Given the description of an element on the screen output the (x, y) to click on. 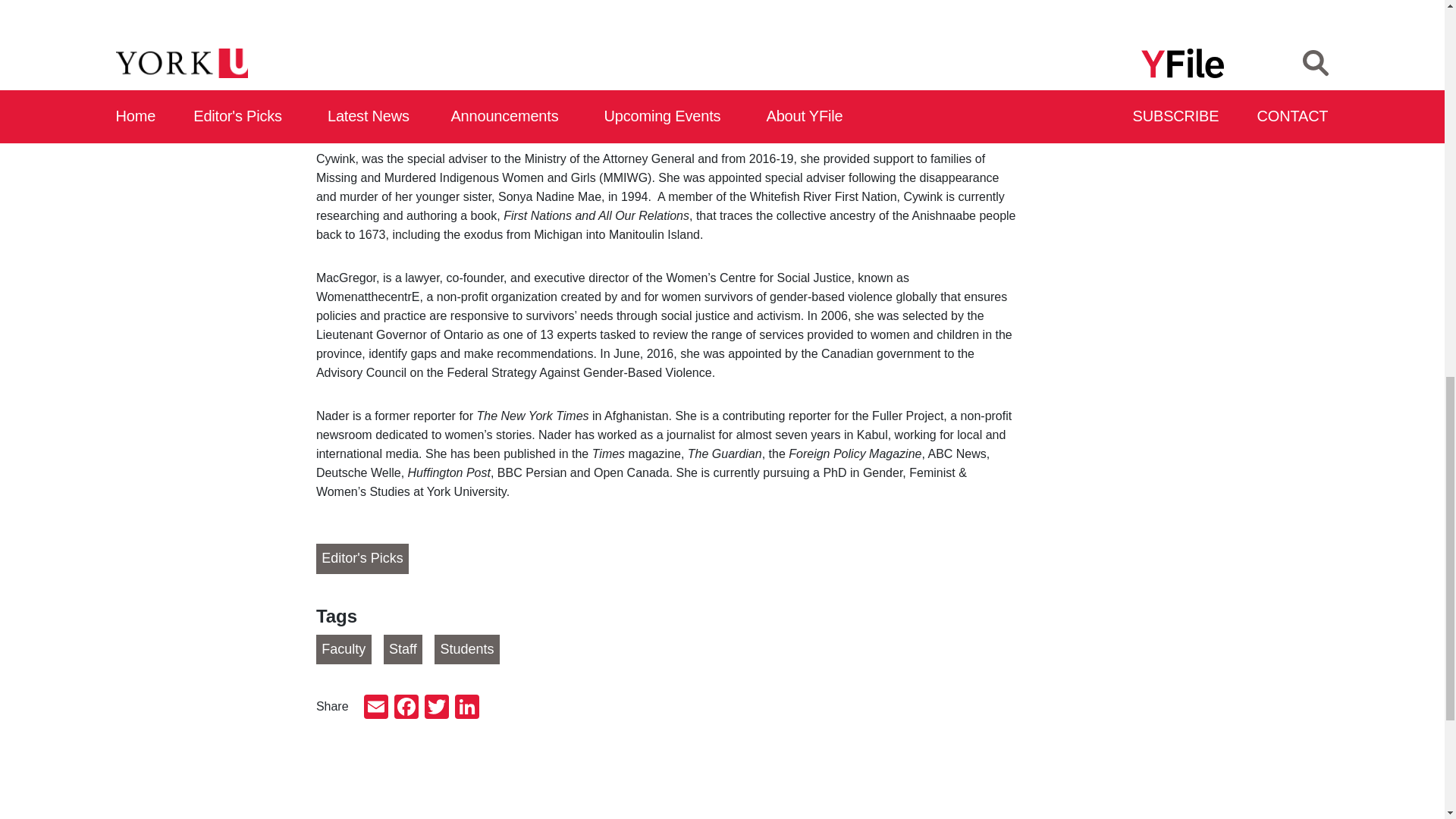
Editor's Picks (362, 558)
Email (376, 708)
LinkedIn (466, 708)
Staff (403, 649)
Facebook (406, 708)
Twitter (436, 708)
Faculty (343, 649)
Students (466, 649)
Email (376, 708)
